Given the description of an element on the screen output the (x, y) to click on. 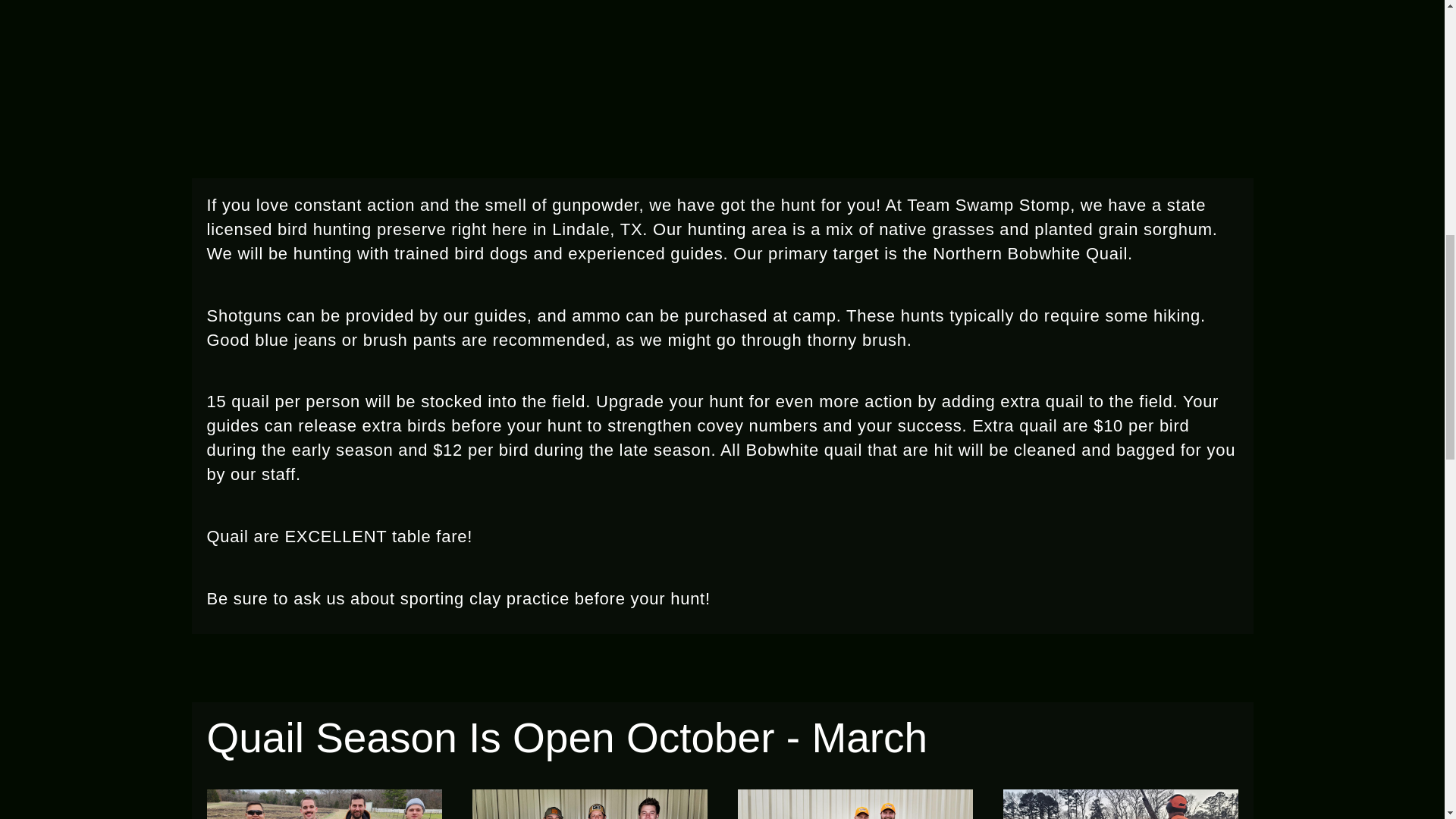
2quailhunters (854, 804)
Largegroupquailhunt (323, 804)
YouTube video player (721, 47)
Singlequailhunterinwoodswithdog (1120, 804)
3quailhunters (588, 804)
